Given the description of an element on the screen output the (x, y) to click on. 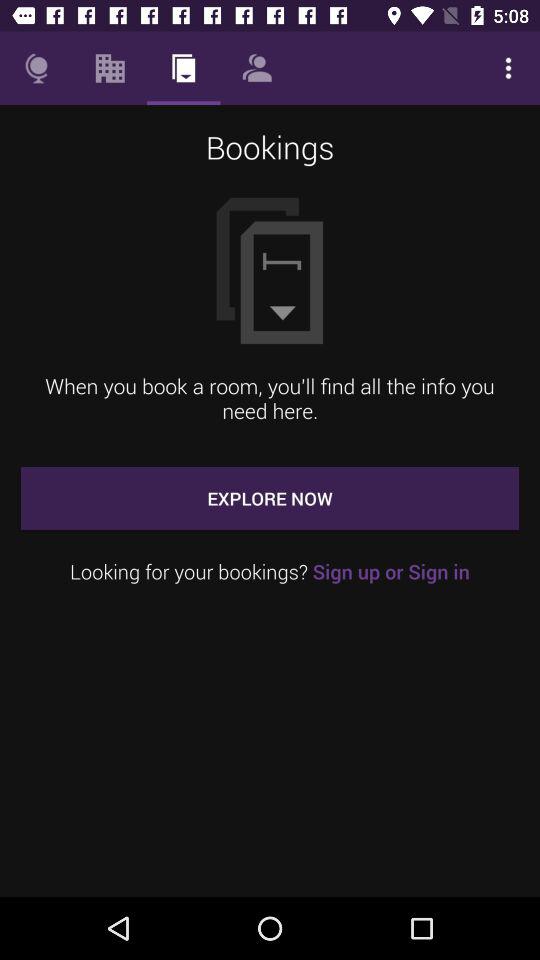
turn off icon below the explore now icon (270, 571)
